Given the description of an element on the screen output the (x, y) to click on. 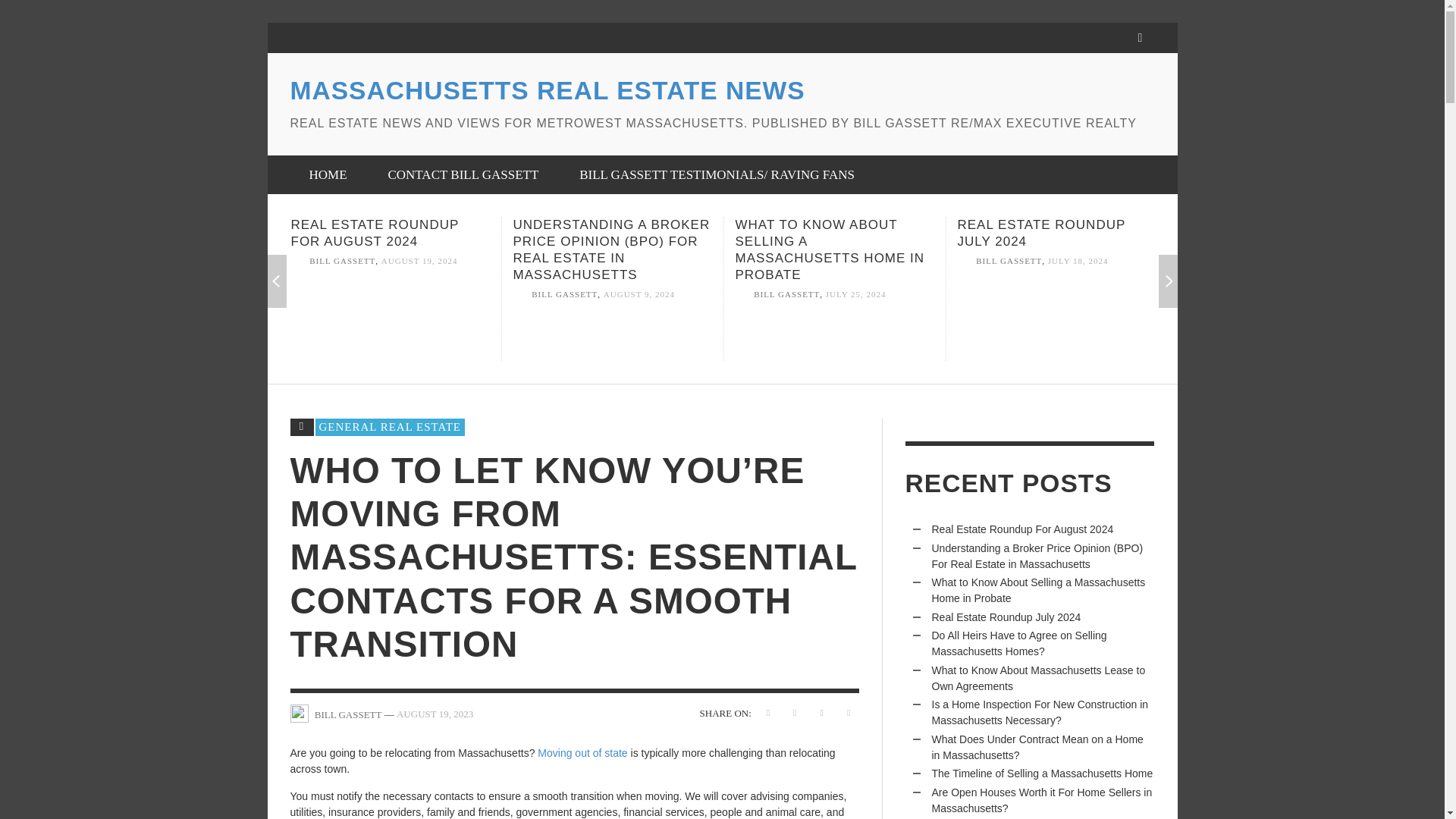
View all posts by Bill Gassett (786, 294)
BILL GASSETT (1008, 260)
Permalink to Real Estate Roundup For August 2024 (374, 232)
Permalink to Real Estate Roundup July 2024 (1040, 232)
REAL ESTATE ROUNDUP JULY 2024 (1040, 232)
Permalink to Real Estate Roundup July 2024 (1078, 260)
JULY 25, 2024 (855, 294)
Permalink to Real Estate Roundup For August 2024 (419, 260)
